Given the description of an element on the screen output the (x, y) to click on. 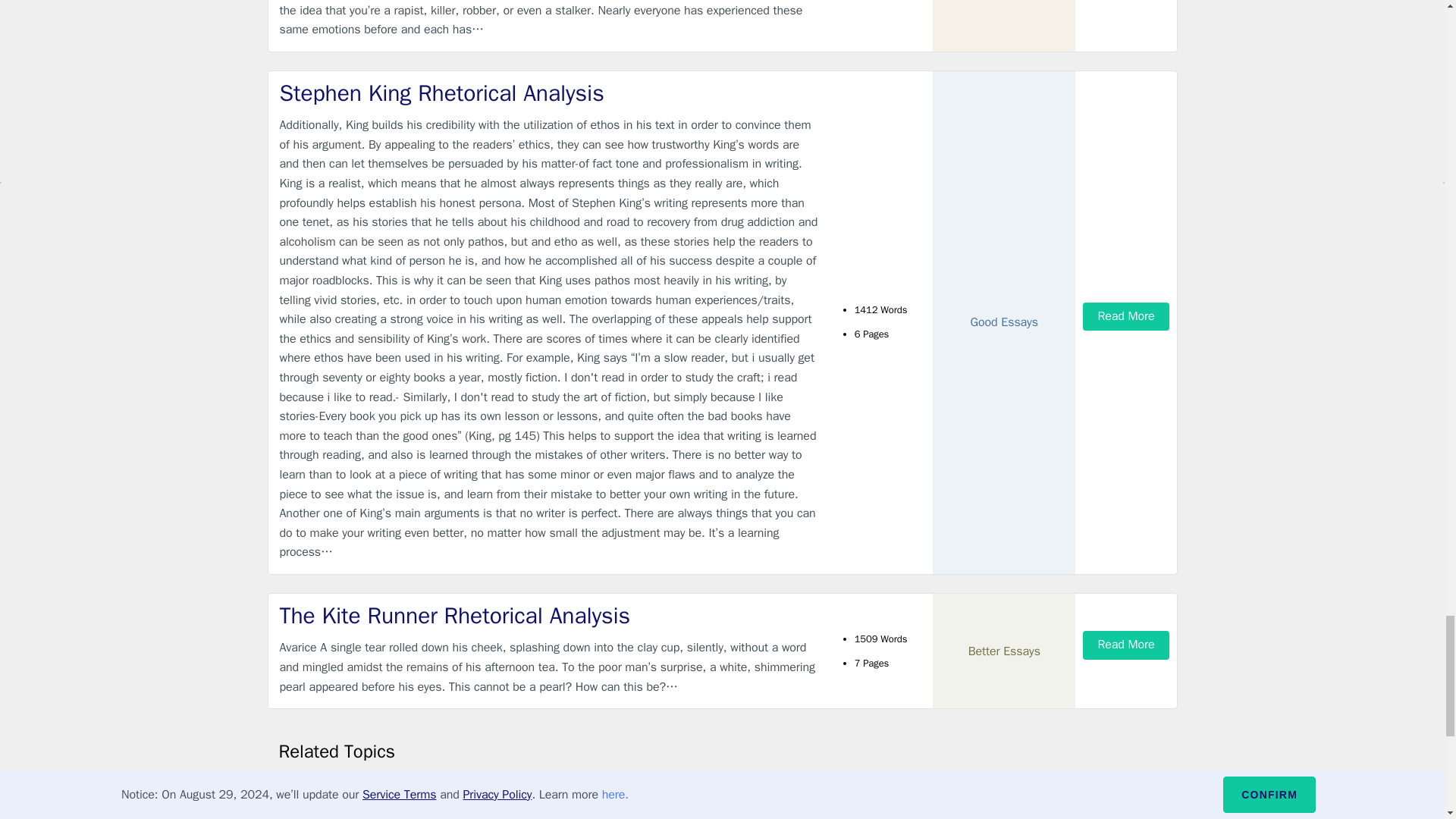
Love (289, 813)
The Beatles (679, 788)
Emotion (297, 788)
